Given the description of an element on the screen output the (x, y) to click on. 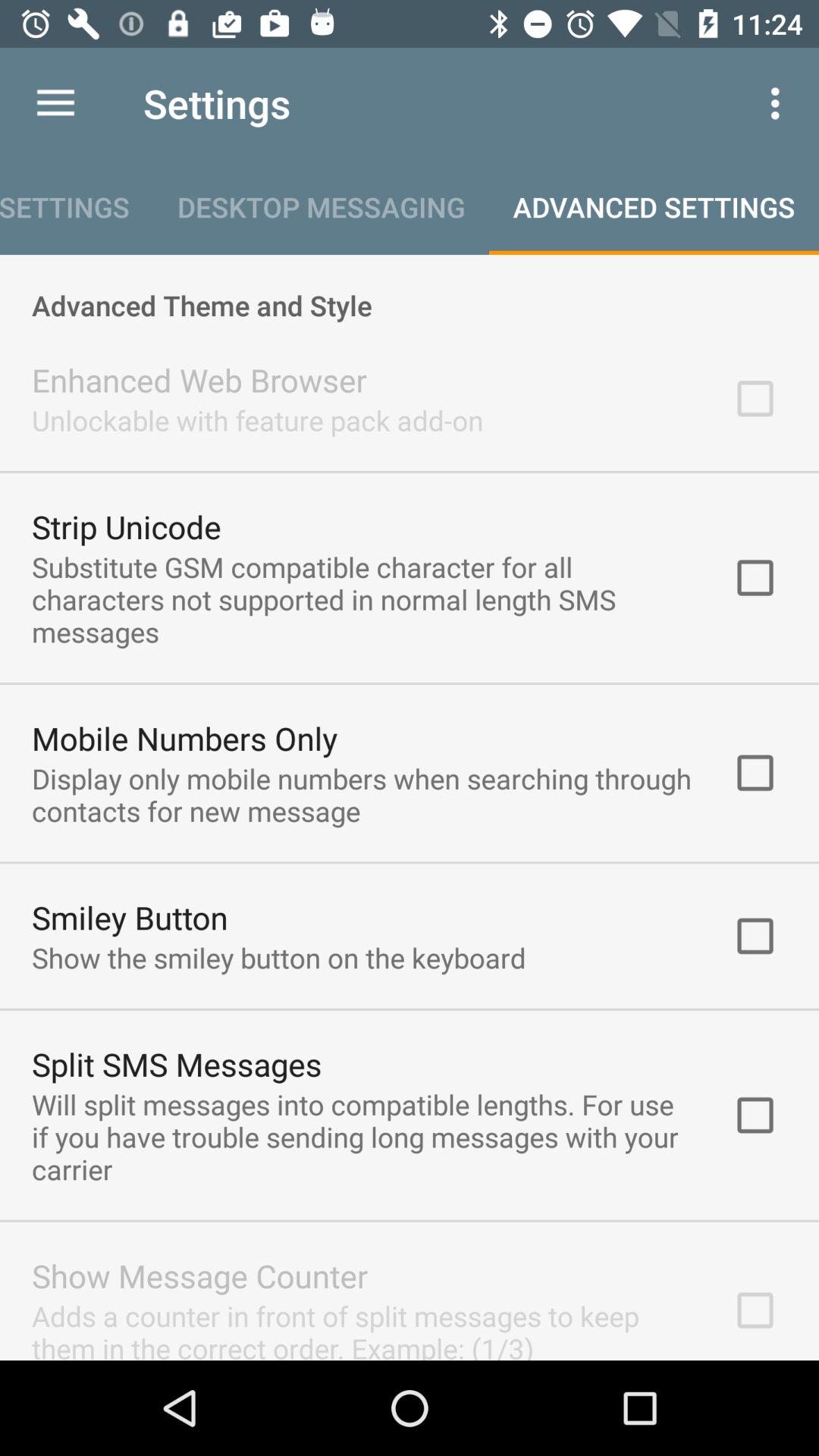
swipe to the advanced theme and icon (409, 289)
